Given the description of an element on the screen output the (x, y) to click on. 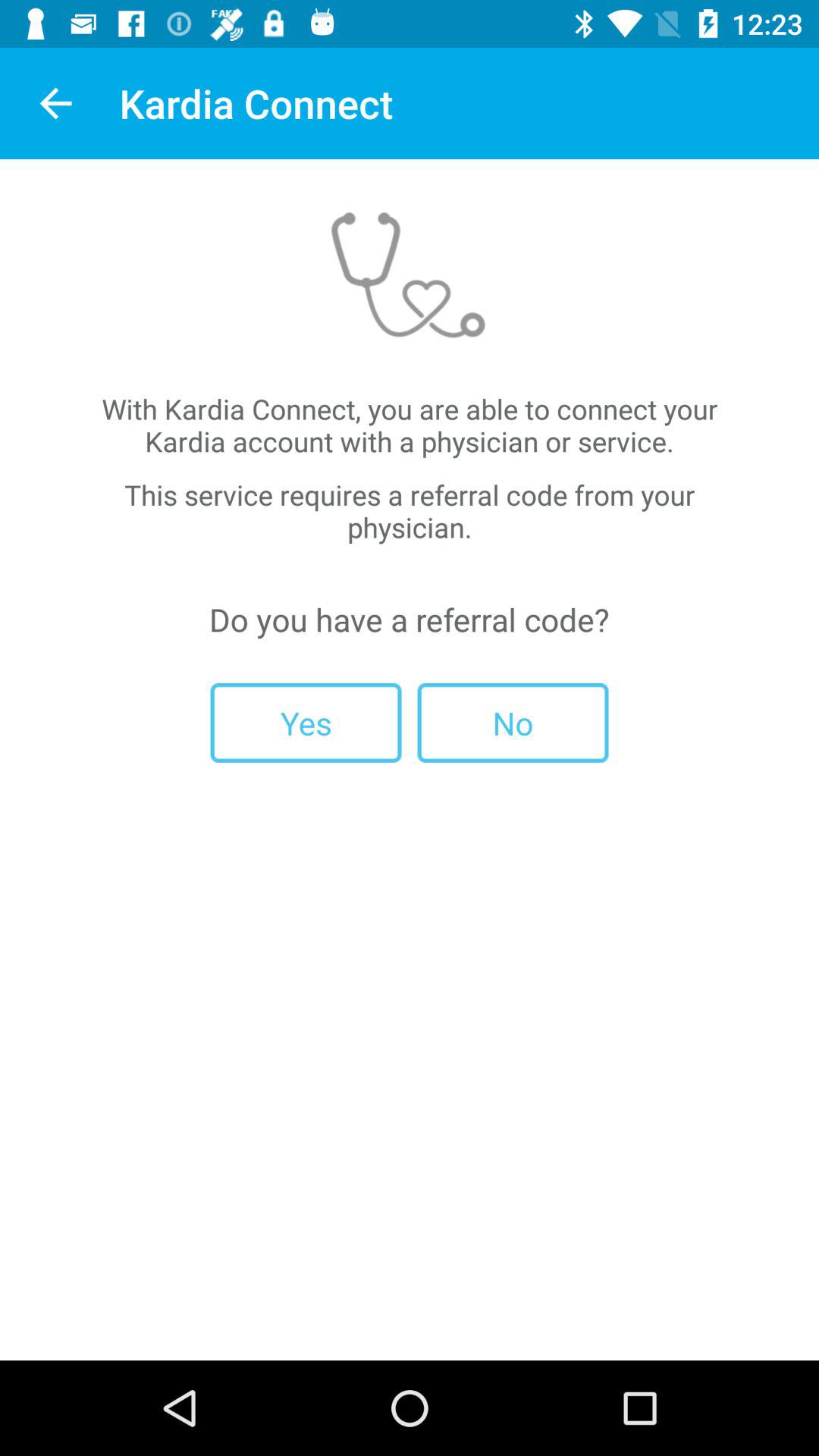
turn off the item next to the no (305, 722)
